Given the description of an element on the screen output the (x, y) to click on. 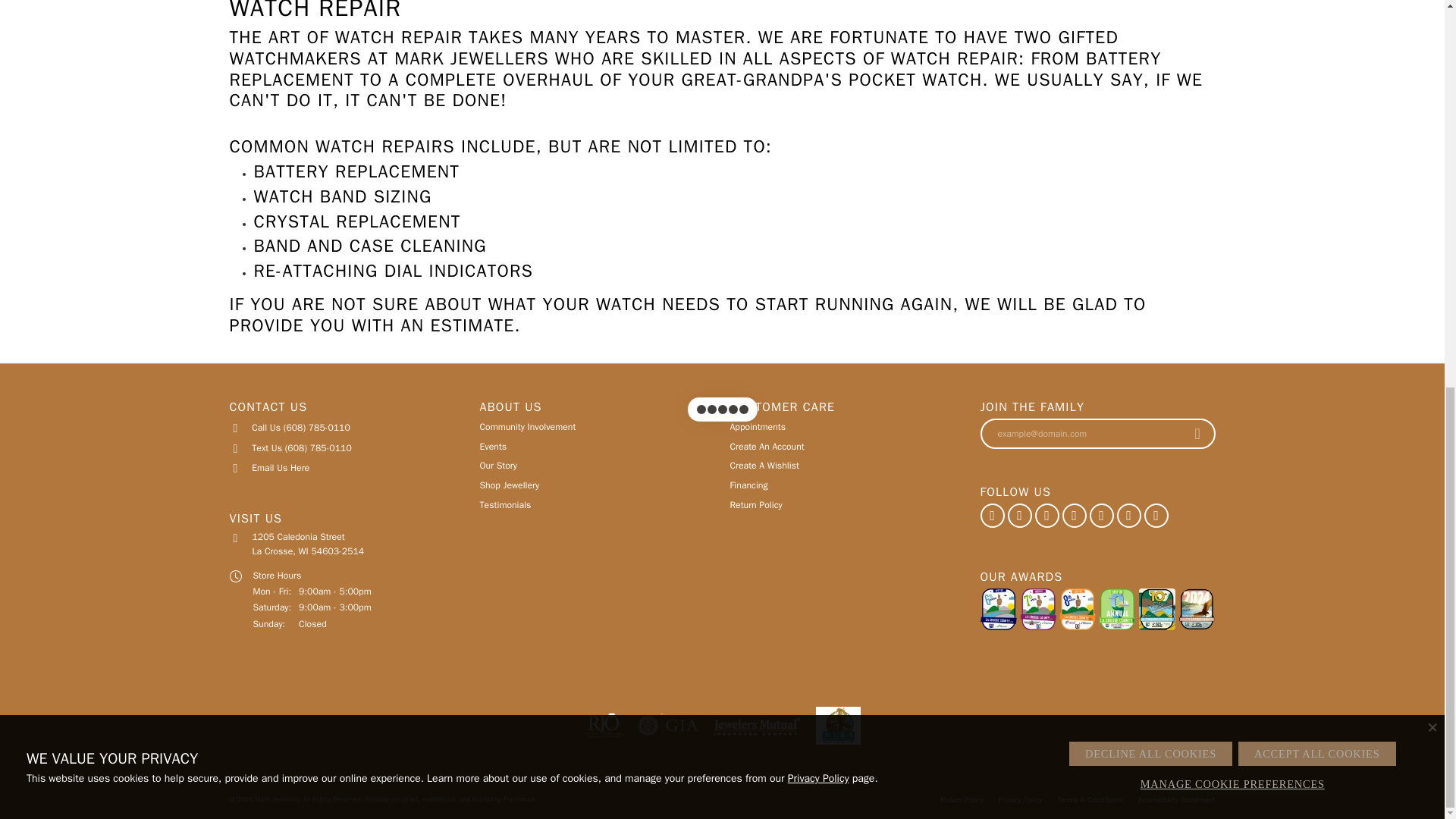
Follow us on facebook (1018, 515)
Follow us on TikTok (1073, 515)
Follow us on pinterest (991, 515)
Enter your email address to subscribe (1081, 433)
Follow us on instagram (1045, 515)
Follow us on twitter (1101, 515)
Follow us on SnapChat (1128, 515)
Follow us on YouTube (1154, 515)
